Given the description of an element on the screen output the (x, y) to click on. 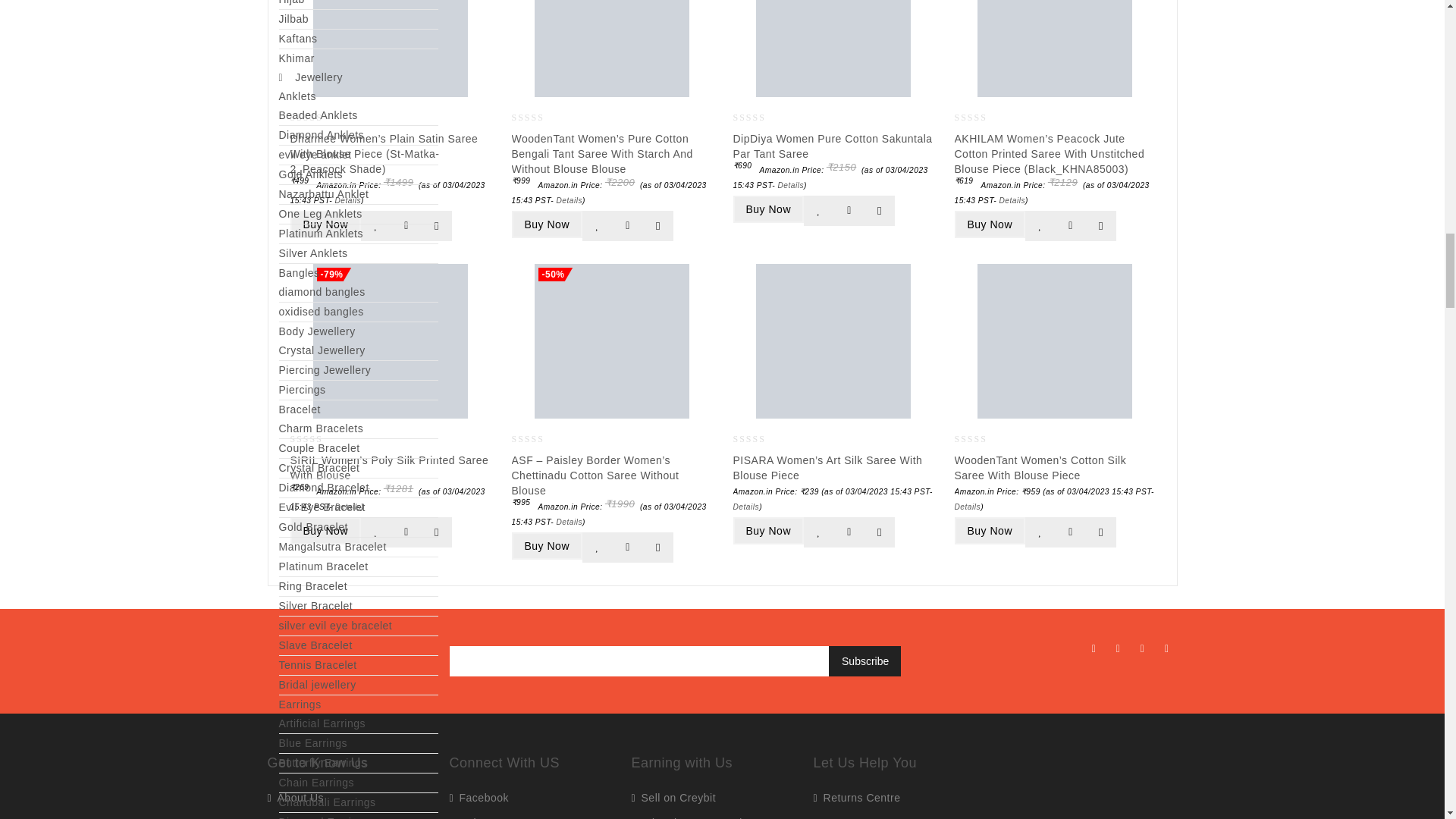
Not yet rated (318, 117)
Subscribe (864, 661)
Not yet rated (540, 117)
